Given the description of an element on the screen output the (x, y) to click on. 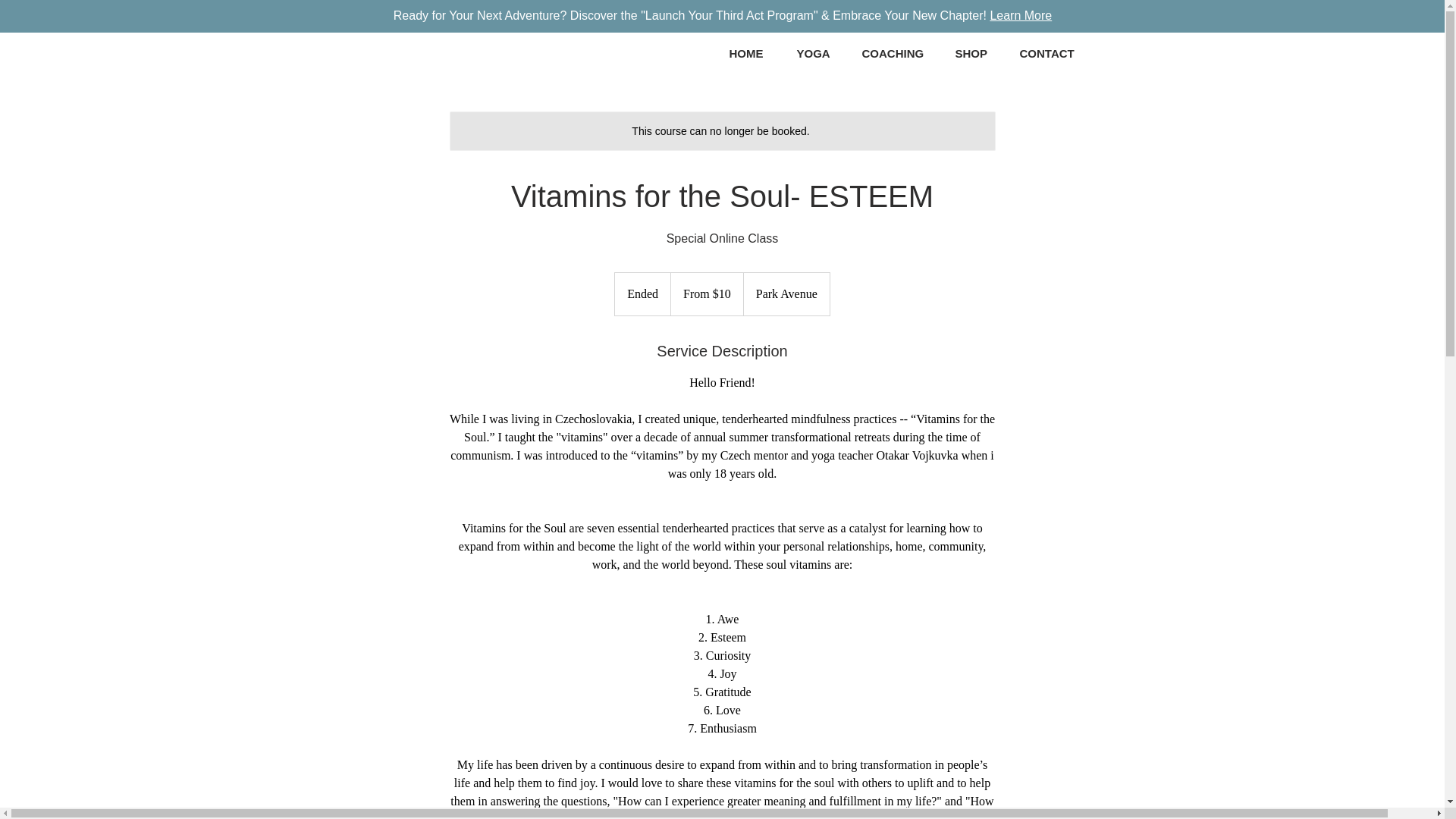
HOME (750, 53)
Learn More (1020, 15)
SHOP (975, 53)
YOGA (818, 53)
CONTACT (1051, 53)
COACHING (896, 53)
